Given the description of an element on the screen output the (x, y) to click on. 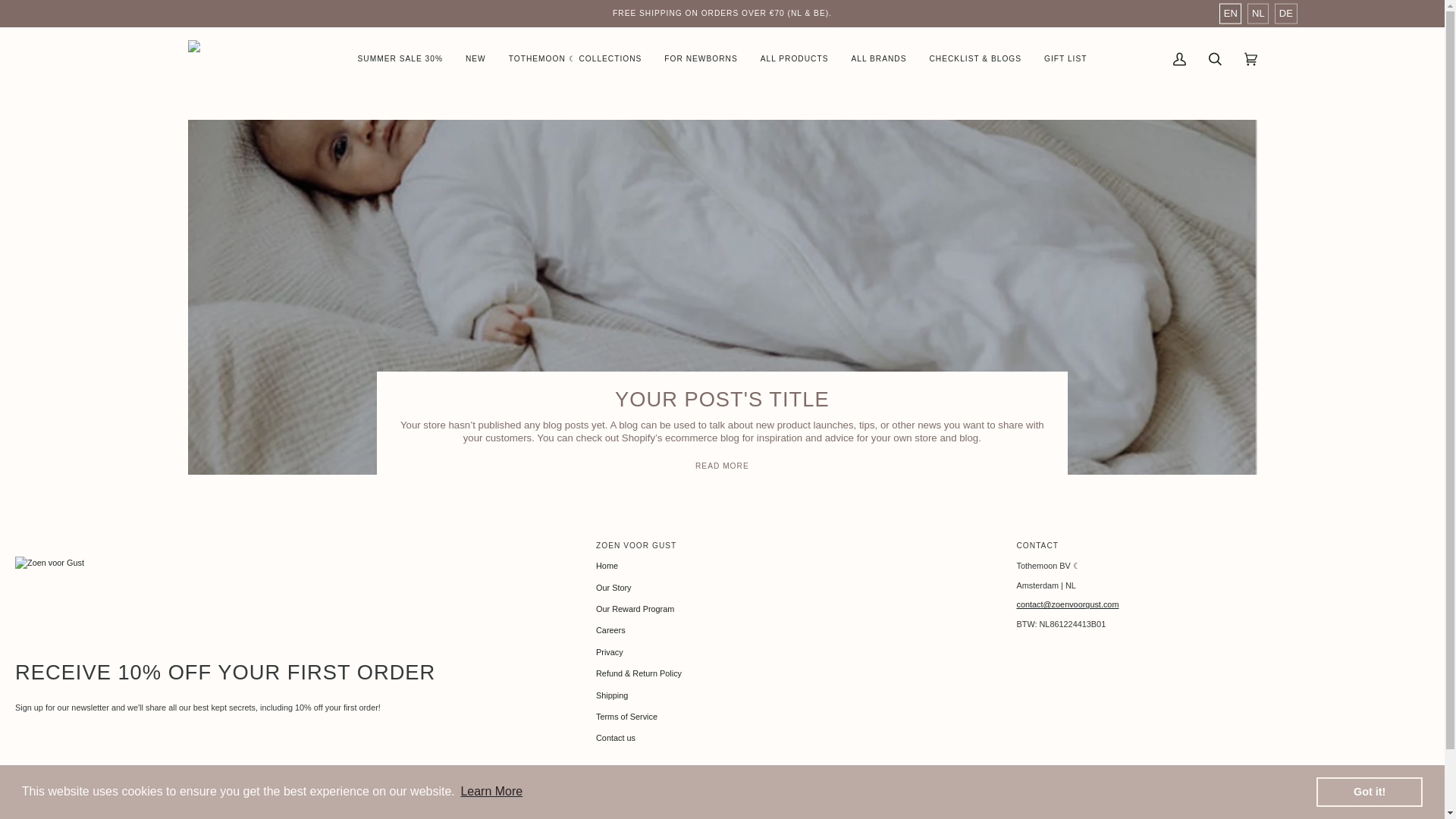
BANCONTACT (28, 812)
ALL PRODUCTS (794, 59)
IDEAL (60, 812)
NL (1257, 14)
Learn More (491, 791)
NEW (475, 59)
KLARNA (153, 812)
PAYPAL (90, 812)
EN (1230, 14)
Got it! (1369, 791)
DE (1286, 14)
FOR NEWBORNS (700, 59)
VISA (121, 812)
